Given the description of an element on the screen output the (x, y) to click on. 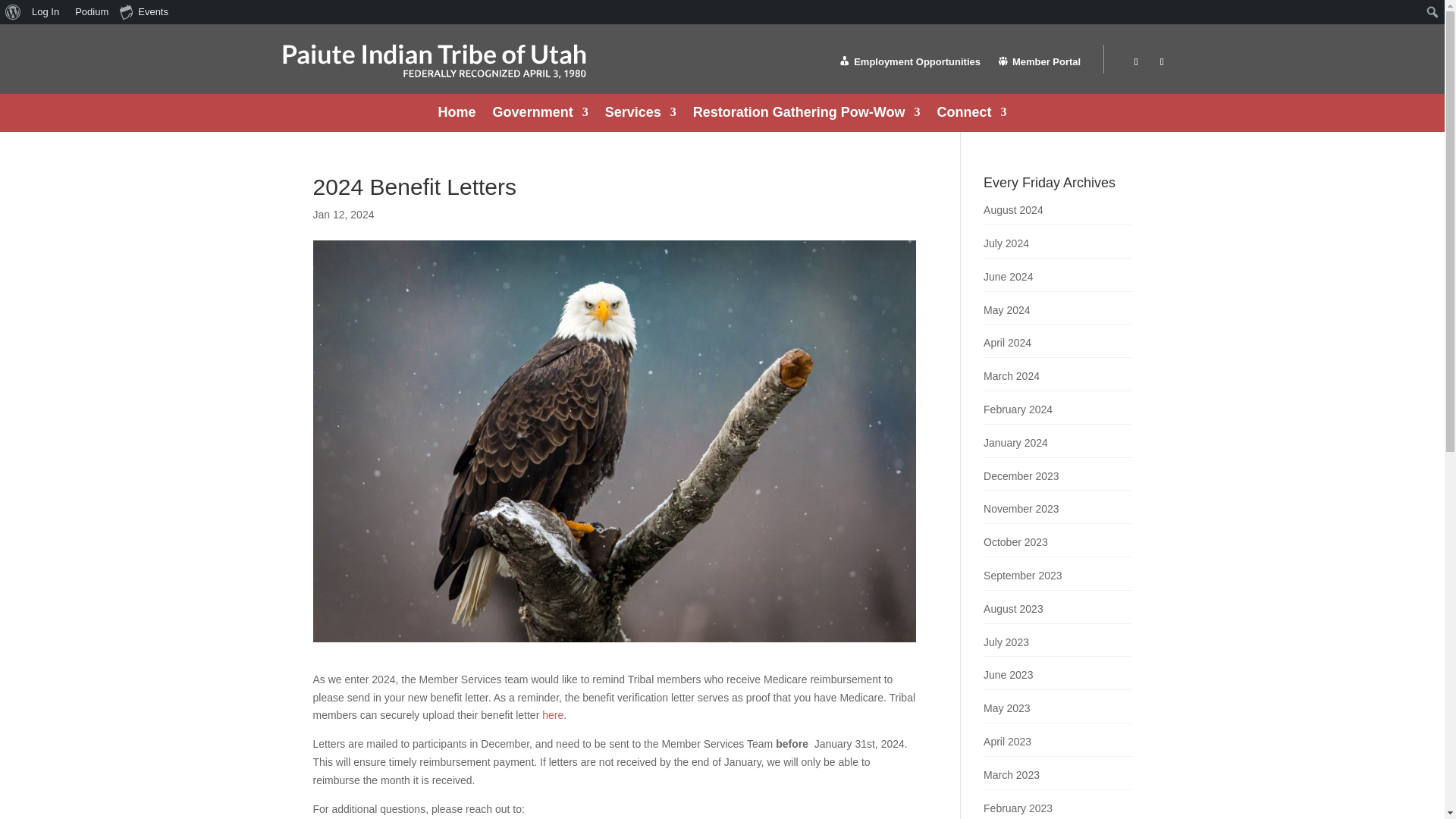
Services (641, 115)
Member Portal (1038, 64)
Podium Webchat (90, 12)
Government (540, 115)
Employment Opportunities (908, 64)
Restoration Gathering Pow-Wow (806, 115)
Connect (971, 115)
paiutes-logo (434, 60)
Follow on Instagram (1161, 62)
Home (457, 115)
